Given the description of an element on the screen output the (x, y) to click on. 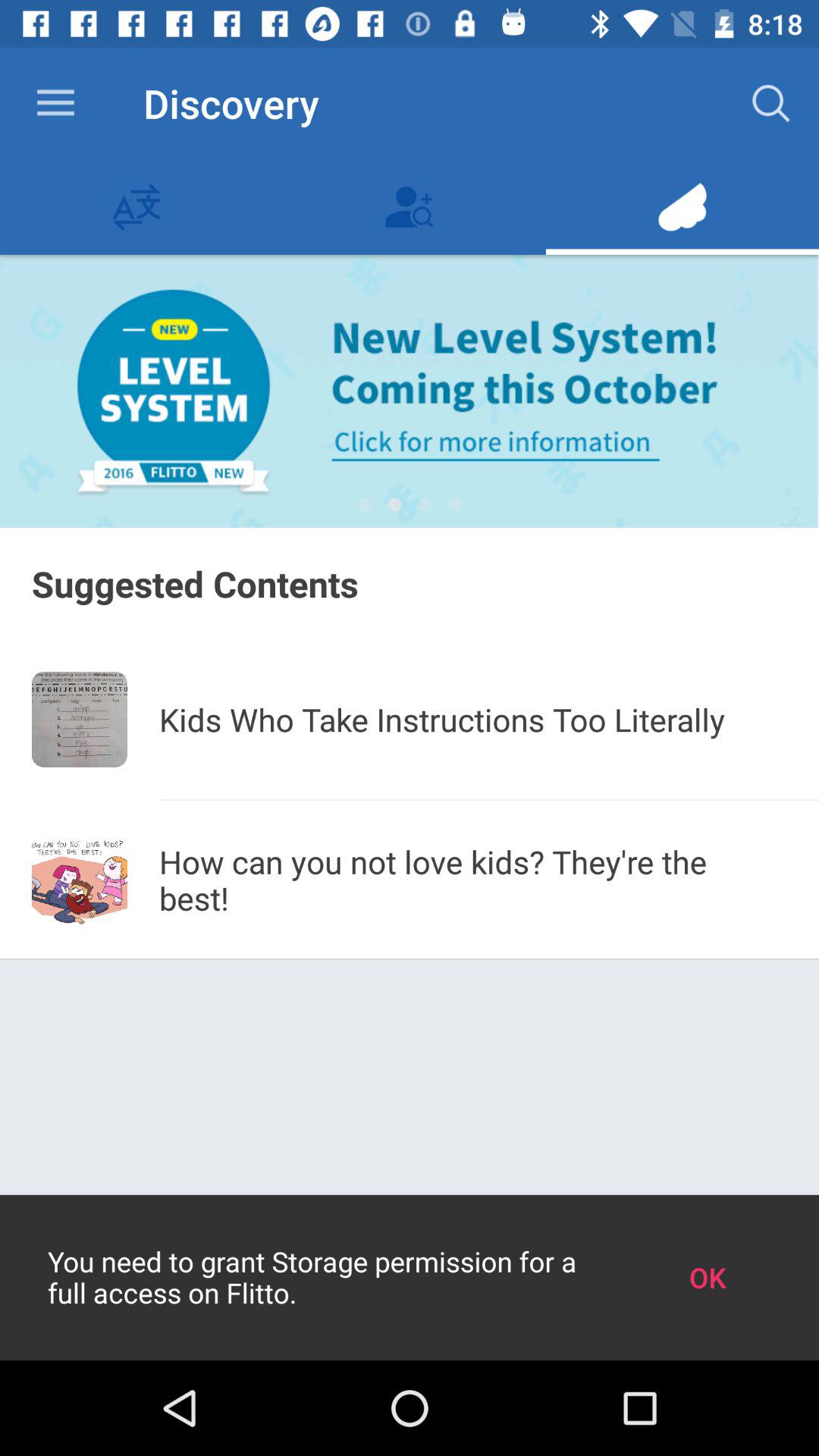
open the app next to discovery app (55, 103)
